Given the description of an element on the screen output the (x, y) to click on. 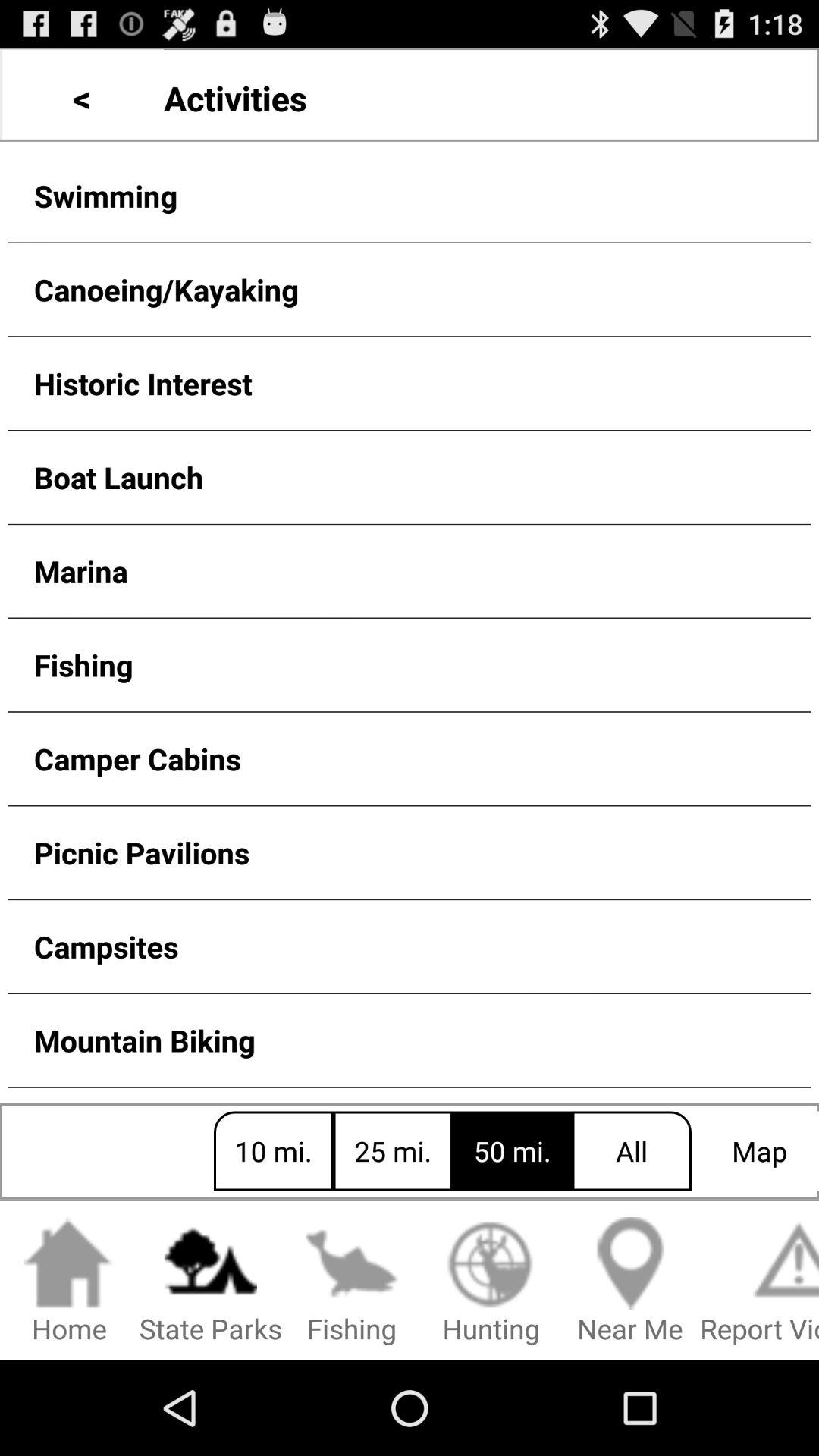
click the icon to the right of fishing item (490, 1282)
